Given the description of an element on the screen output the (x, y) to click on. 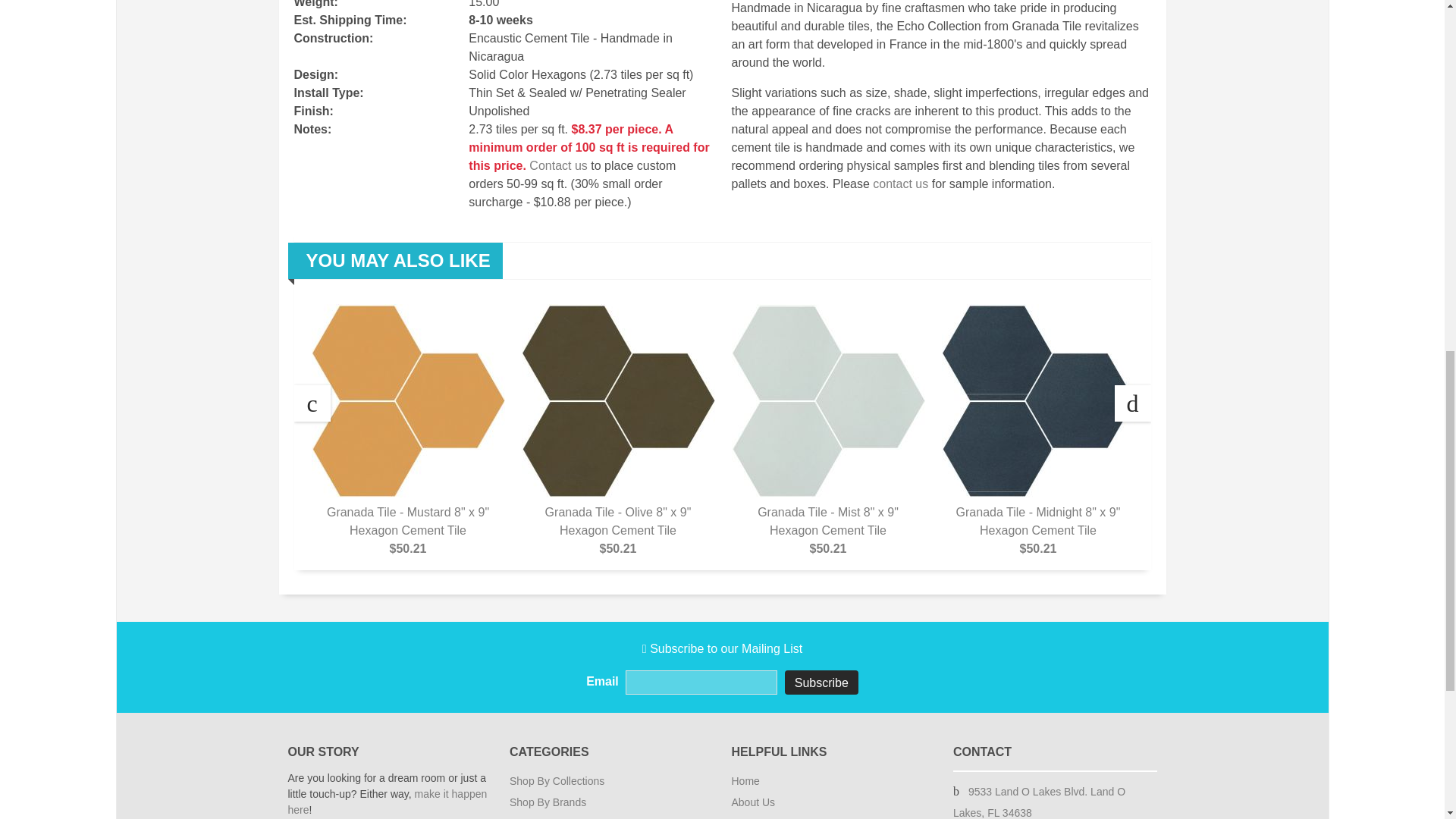
Subscribe (821, 682)
